Given the description of an element on the screen output the (x, y) to click on. 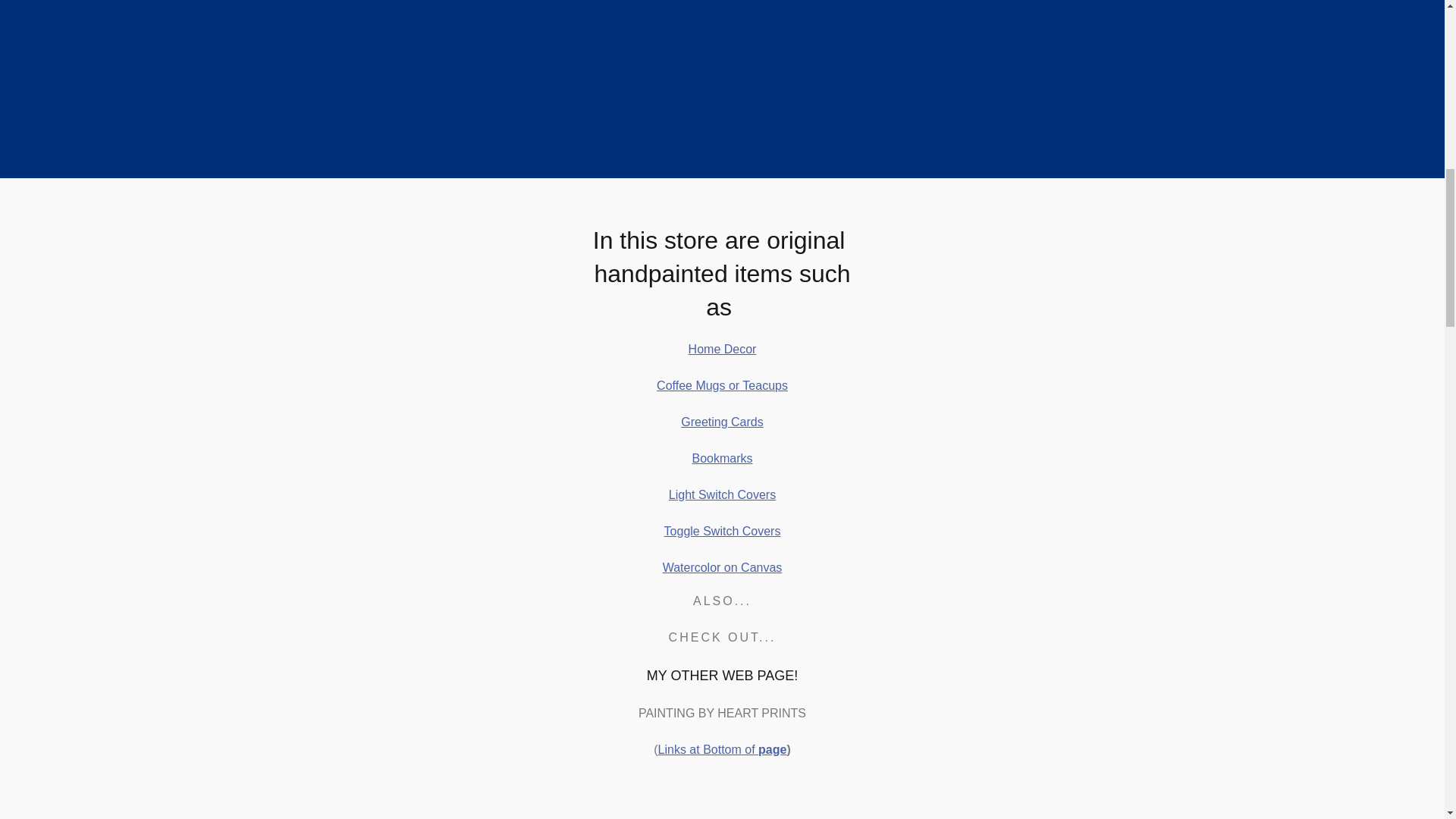
Greeting Cards (721, 421)
Light Switch Covers (722, 494)
Toggle Switch Covers (721, 530)
Home Decor (722, 349)
Bookmarks (721, 458)
Links at Bottom of  (708, 748)
Watercolor on Canvas (722, 567)
Coffee Mugs or Teacups (721, 385)
page (772, 748)
